Given the description of an element on the screen output the (x, y) to click on. 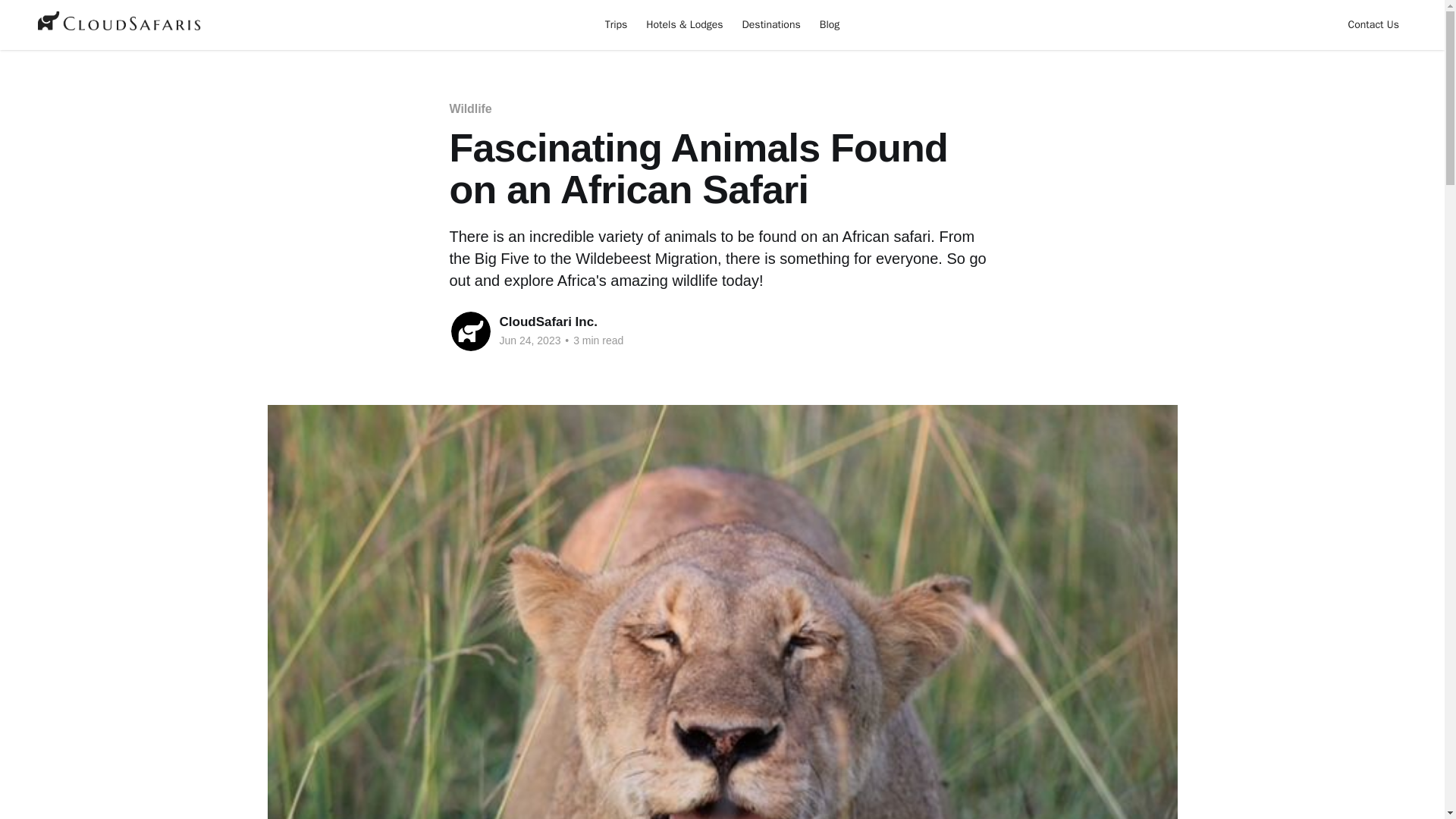
Blog (829, 24)
Wildlife (470, 108)
Contact Us (1373, 24)
Destinations (771, 24)
Trips (615, 24)
CloudSafari Inc. (547, 321)
